Given the description of an element on the screen output the (x, y) to click on. 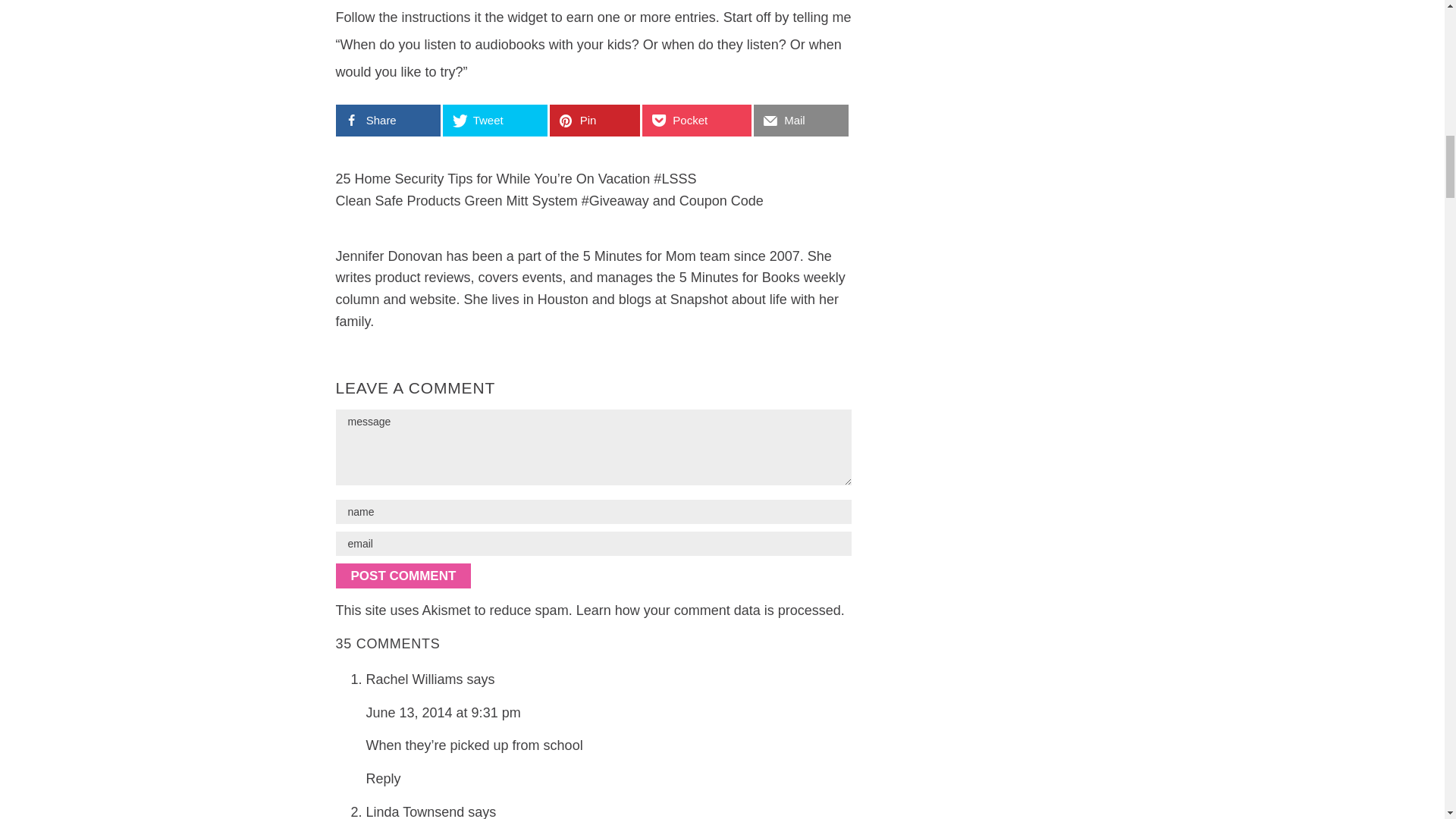
Post Comment (402, 575)
